Given the description of an element on the screen output the (x, y) to click on. 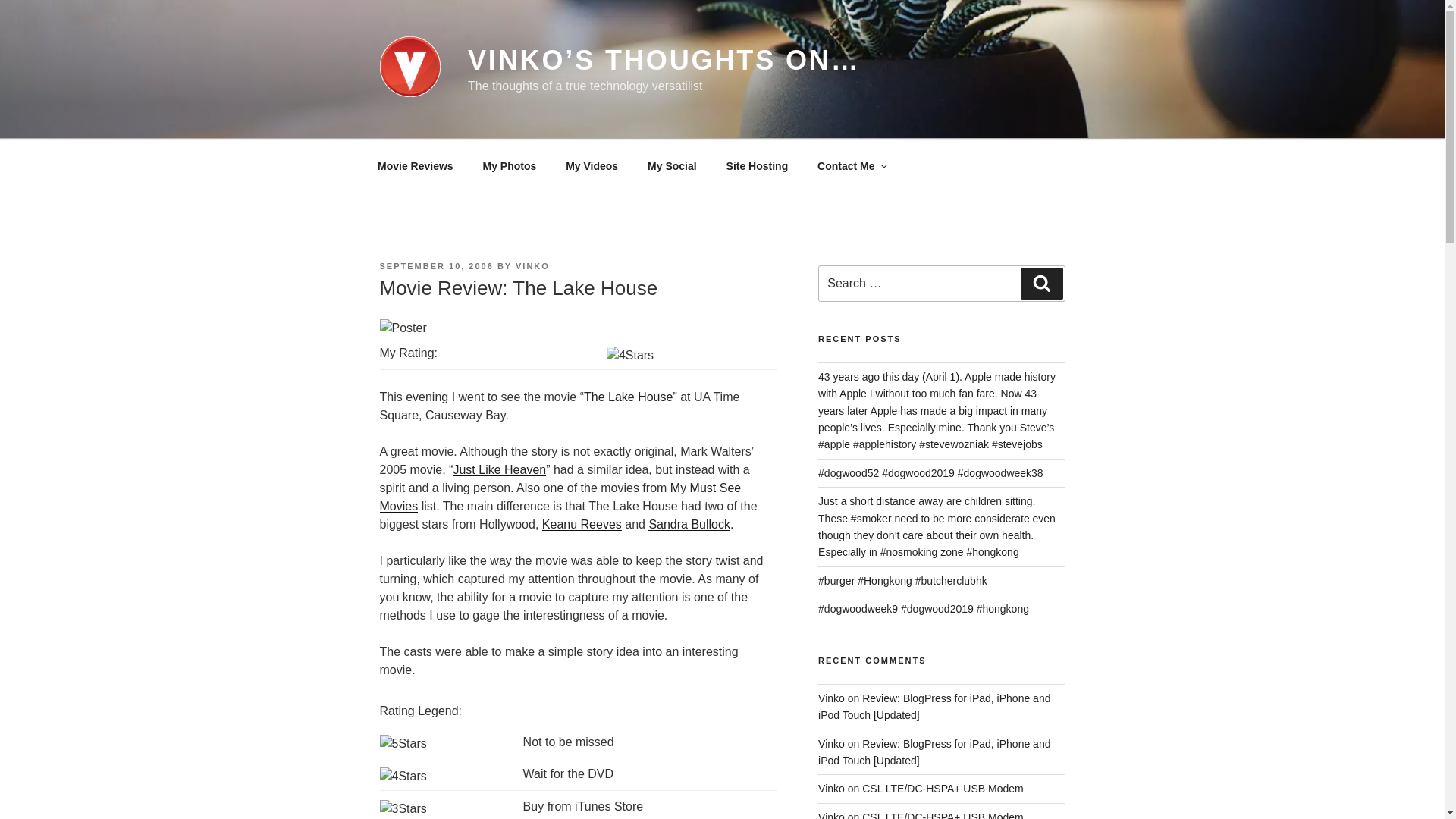
Vinko (831, 698)
My Social (672, 165)
Movie Reviews (414, 165)
Vinko (831, 815)
Contact Me (851, 165)
VINKO (532, 266)
Just Like Heaven (499, 469)
Vinko (831, 743)
SEPTEMBER 10, 2006 (435, 266)
Site Hosting (757, 165)
